Given the description of an element on the screen output the (x, y) to click on. 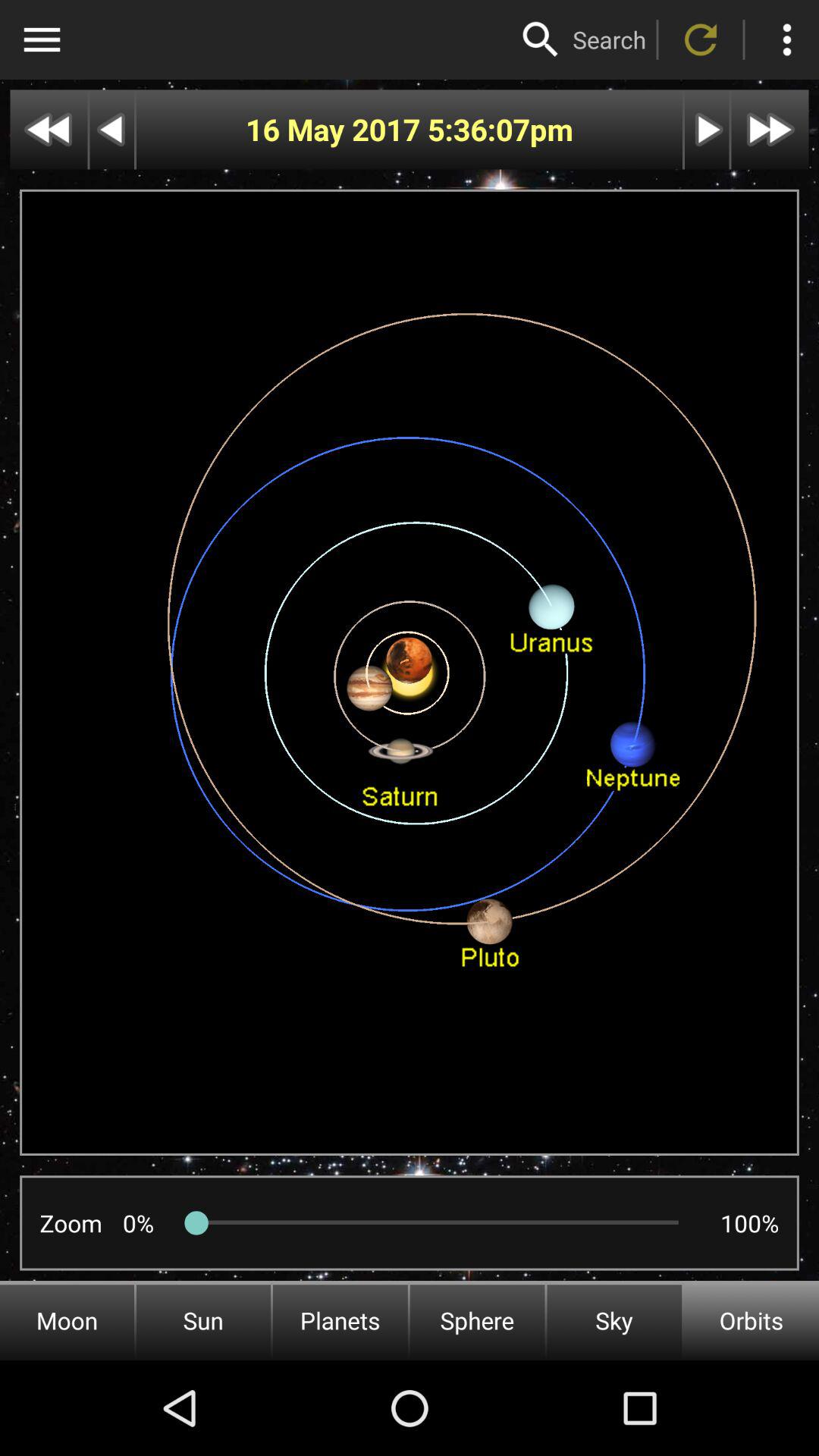
category (41, 39)
